Given the description of an element on the screen output the (x, y) to click on. 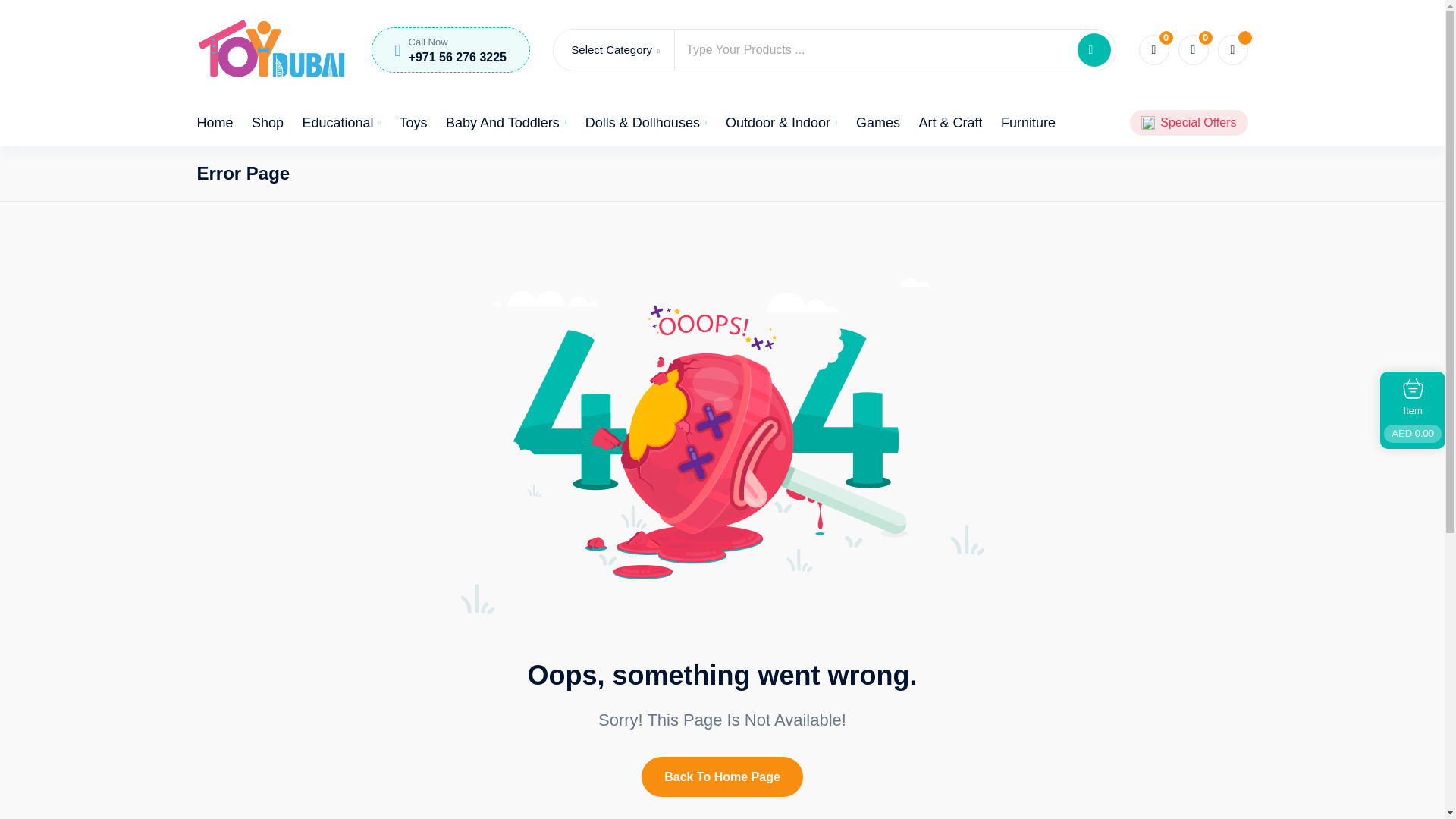
Furniture (1028, 122)
Special Offers (1198, 122)
0 (1192, 50)
Educational (340, 122)
Select Category (614, 49)
0 (1153, 50)
Games (877, 122)
Baby And Toddlers (505, 122)
